Given the description of an element on the screen output the (x, y) to click on. 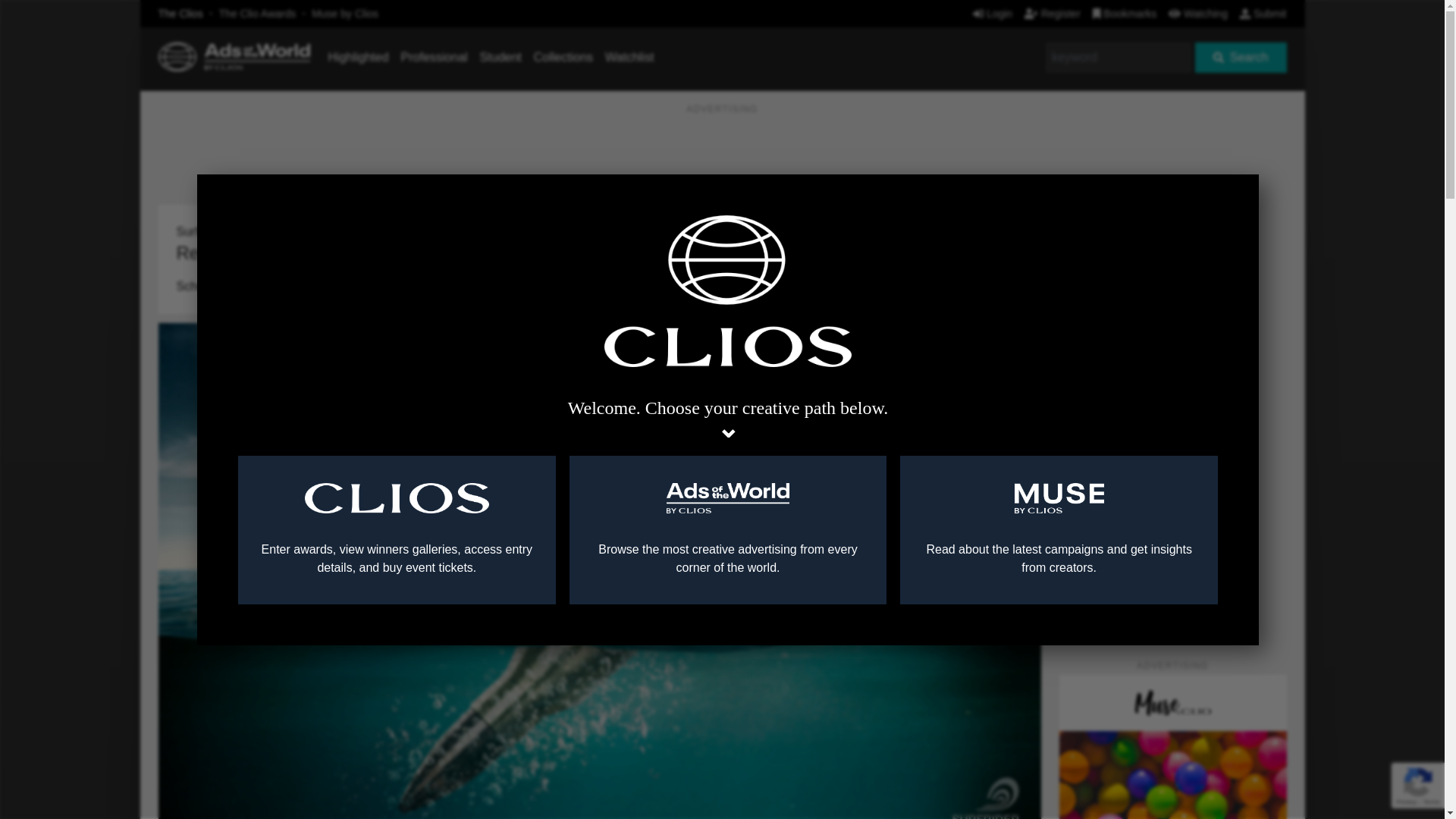
Bookmarks (1125, 13)
Watching (1198, 13)
Register (1052, 13)
Search (1241, 57)
Collections (563, 56)
Watchlist (629, 56)
Highlighted (357, 56)
Student (500, 56)
Watching (1198, 13)
Professional (434, 56)
